Given the description of an element on the screen output the (x, y) to click on. 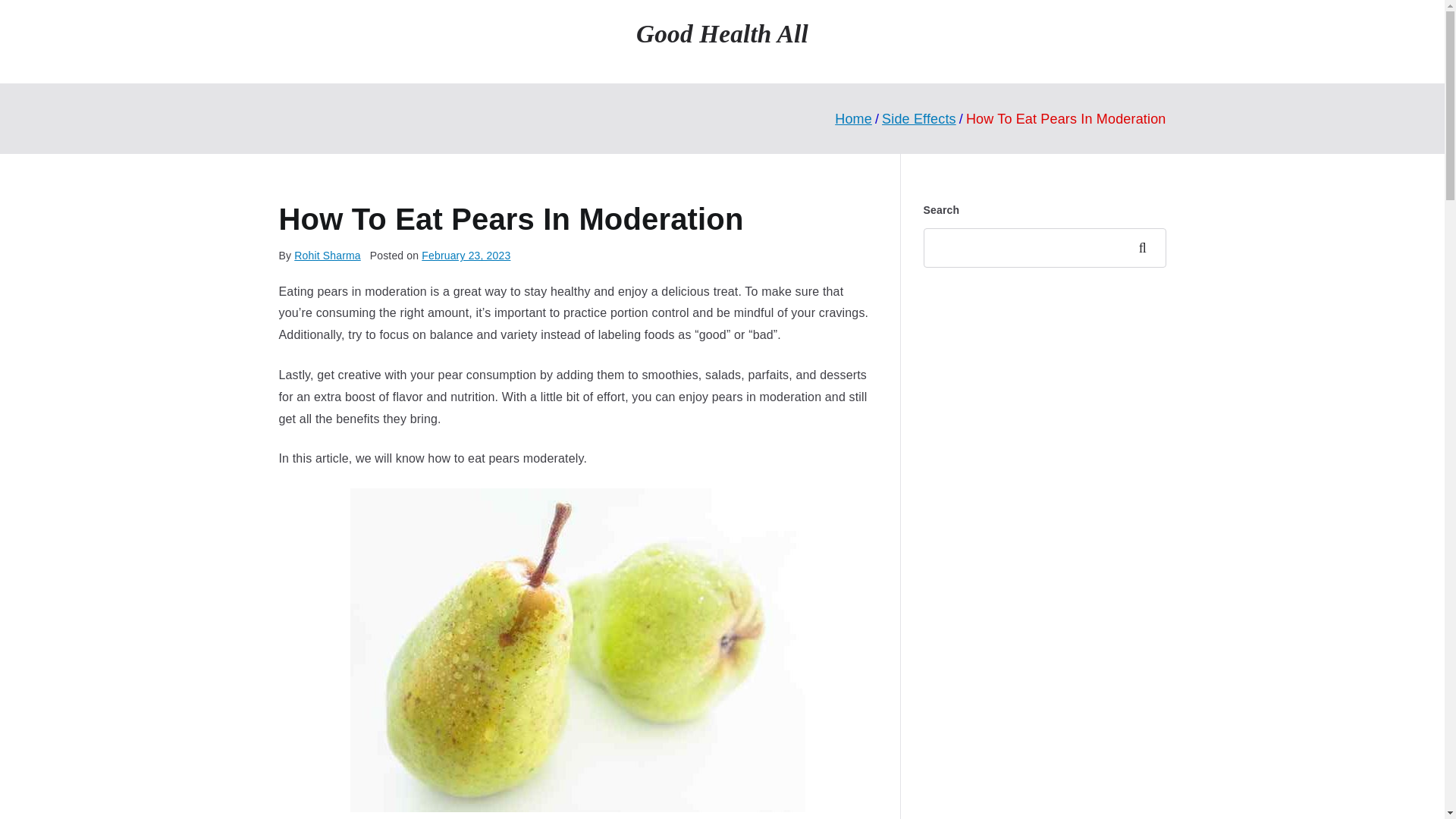
Good Health All (722, 33)
Home (853, 118)
Side Effects (919, 118)
Rohit Sharma (327, 255)
February 23, 2023 (466, 255)
Search (1147, 247)
